Given the description of an element on the screen output the (x, y) to click on. 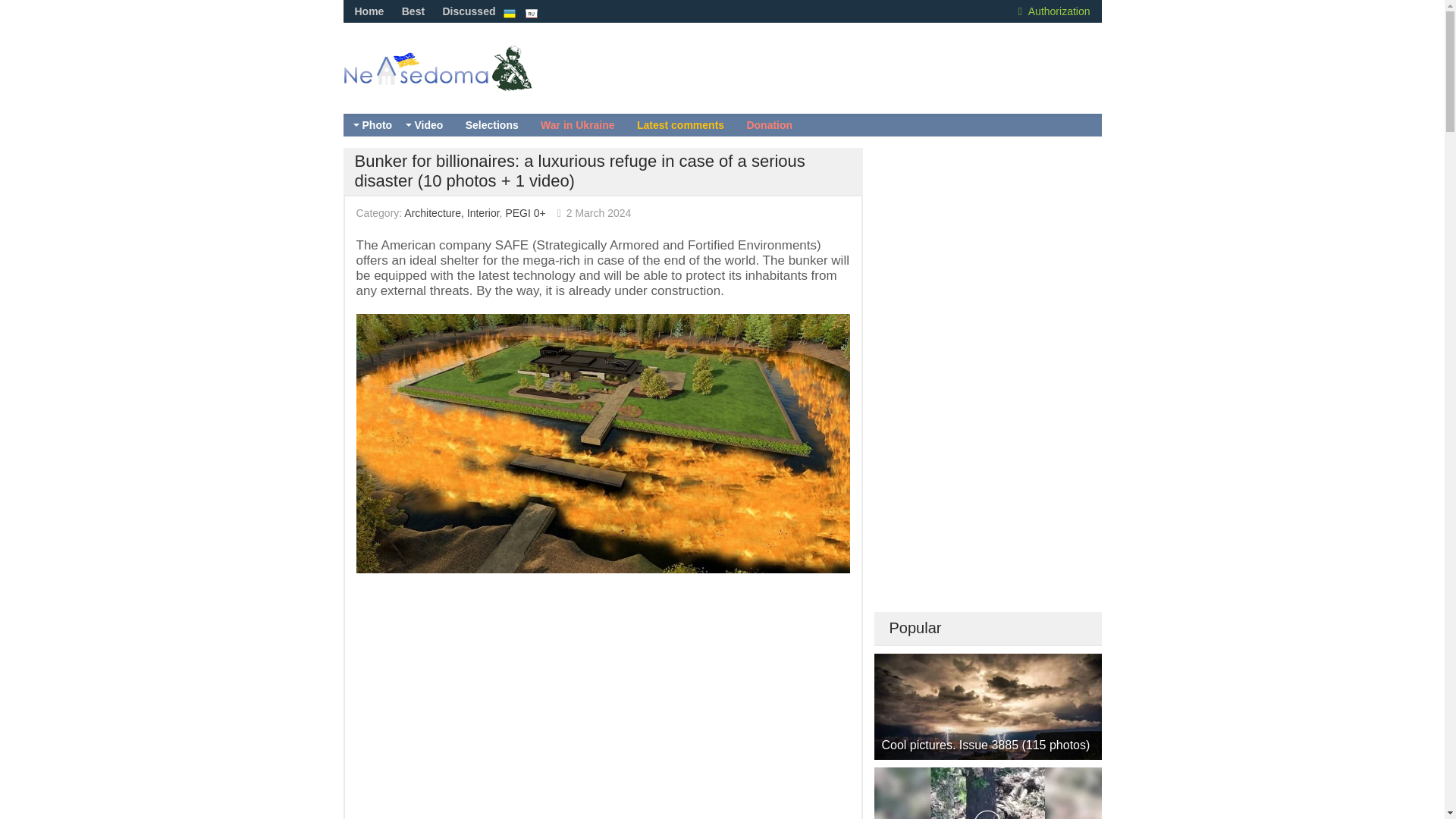
To main (463, 83)
Home (369, 10)
Photo (376, 124)
Discussed (468, 10)
Best (413, 10)
Video (428, 124)
Nevsedoma (463, 83)
